Given the description of an element on the screen output the (x, y) to click on. 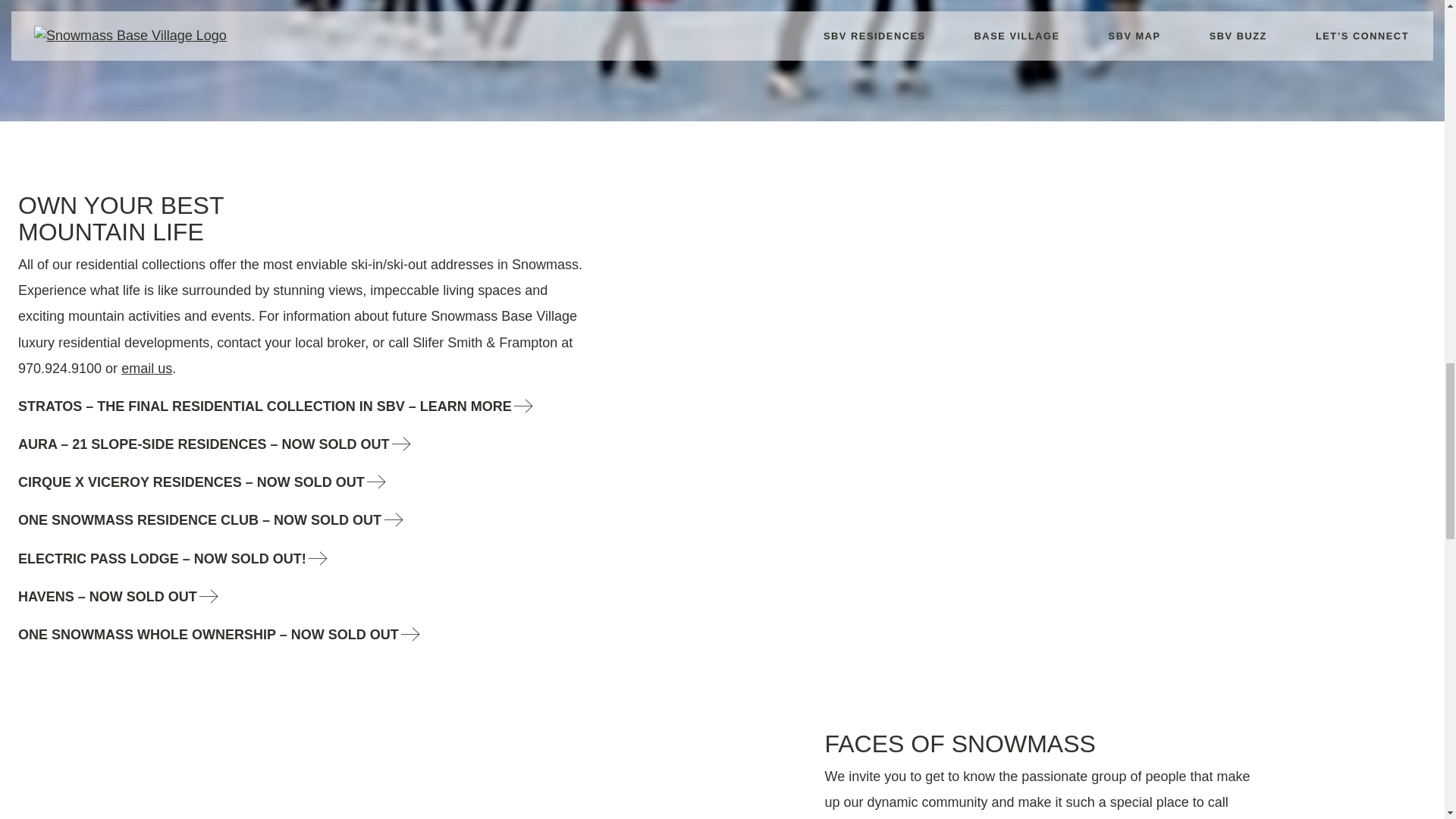
email us (145, 368)
